Given the description of an element on the screen output the (x, y) to click on. 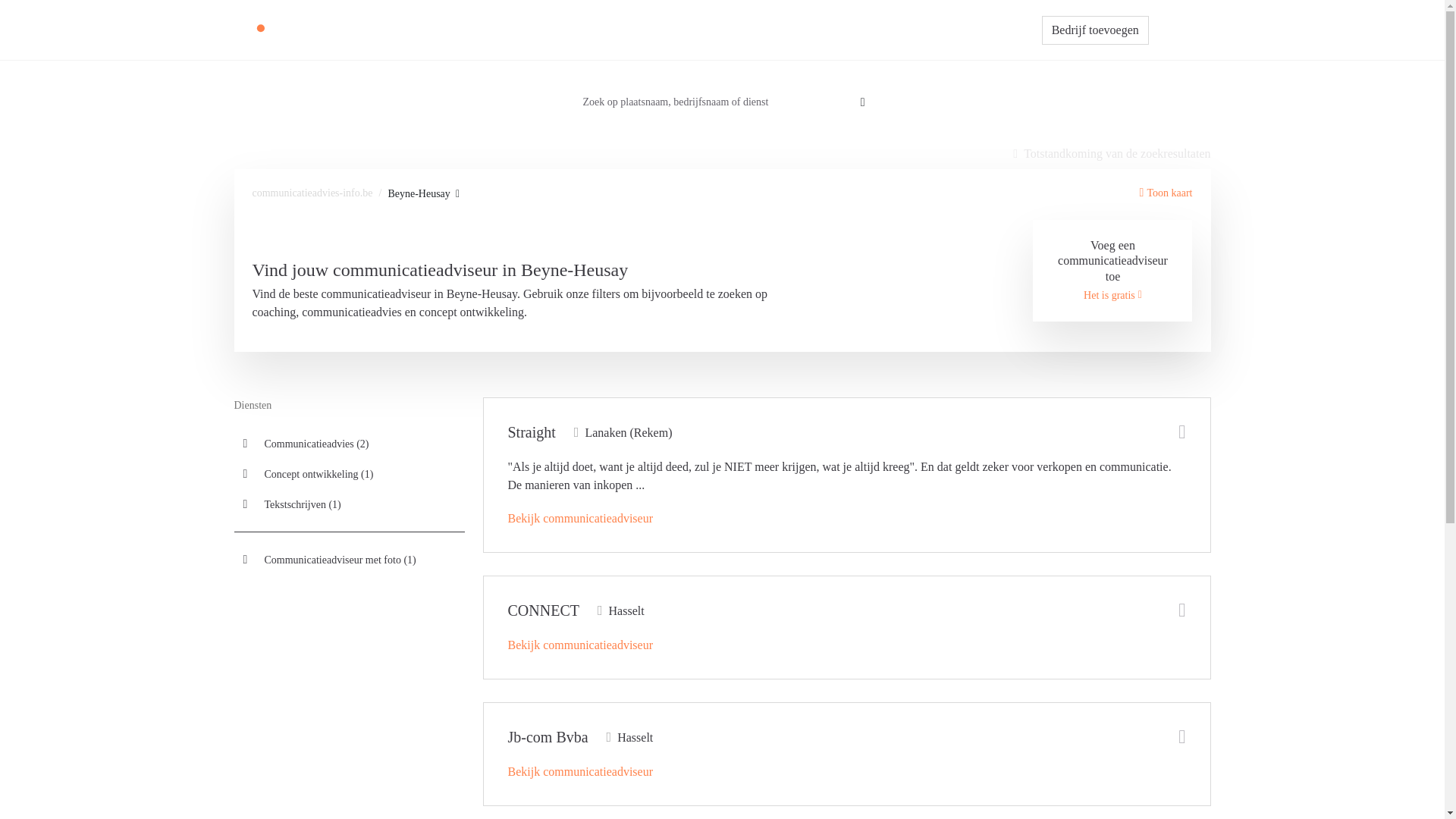
Bekijk communicatieadviseur Element type: text (580, 517)
communicatieadvies-info.be Element type: text (311, 192)
Bedrijf toevoegen Element type: text (1094, 29)
Toon kaart Element type: text (1165, 192)
Tekstschrijven (1) Element type: text (348, 504)
Bekijk communicatieadviseur Element type: text (580, 771)
Totstandkoming van de zoekresultaten Element type: text (1111, 153)
Jb-com Bvba Element type: text (548, 736)
Concept ontwikkeling (1) Element type: text (348, 473)
Communicatieadviseur met foto (1) Element type: text (348, 559)
Straight Element type: text (531, 431)
Inloggen Element type: text (1179, 29)
Vraagbaak Element type: text (805, 29)
Bekijk communicatieadviseur Element type: text (580, 644)
Communicatieadviseur zoeken Element type: text (692, 29)
Beyne-Heusay Element type: text (423, 193)
CONNECT Element type: text (543, 610)
Communicatieadvies (2) Element type: text (348, 443)
Het is gratis Element type: text (1112, 295)
